Given the description of an element on the screen output the (x, y) to click on. 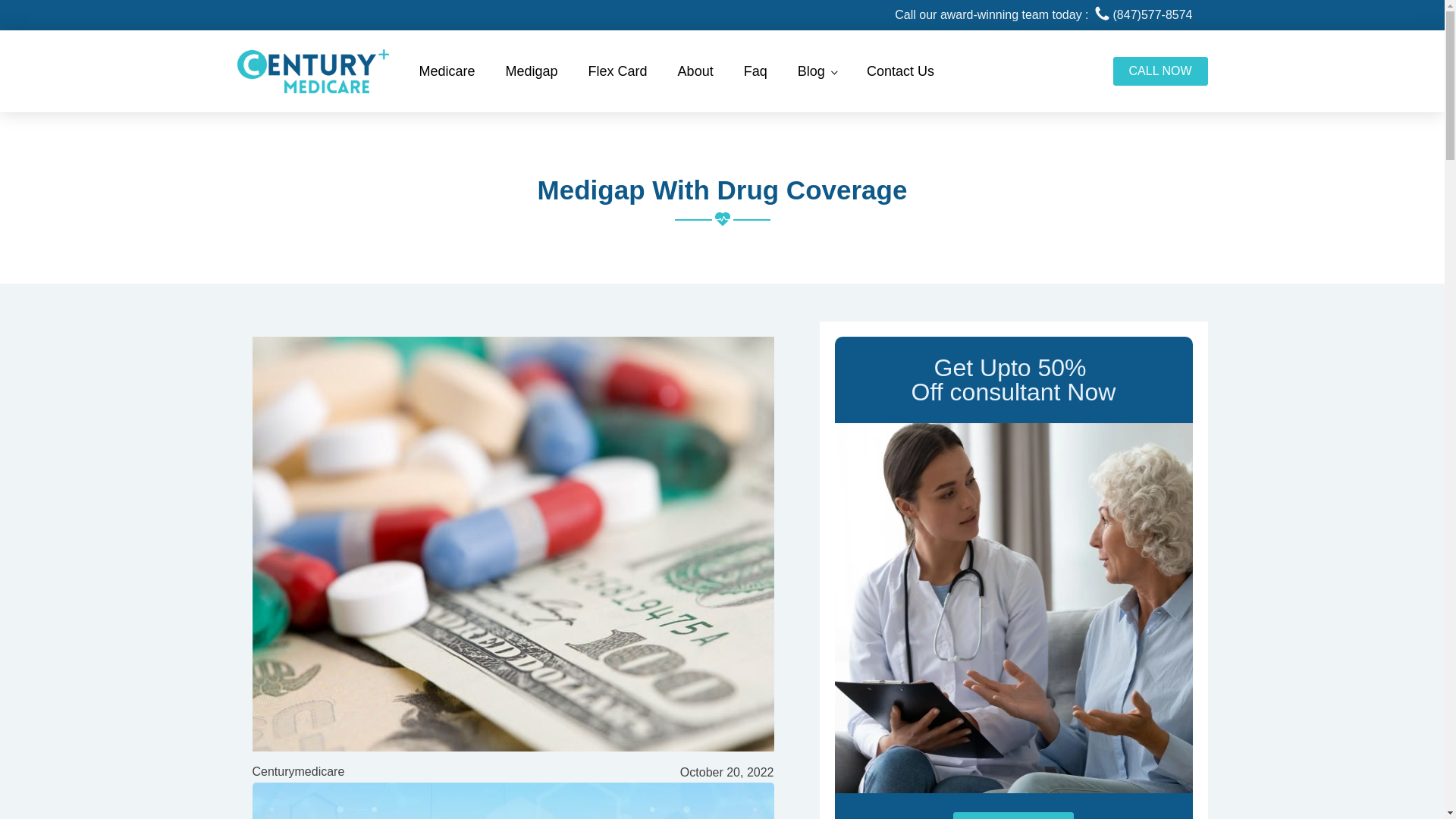
About (695, 71)
Flex Card (617, 71)
Century Medicare (311, 71)
CALL NOW (1160, 70)
Medicare (446, 71)
Medigap (531, 71)
Contact Us (900, 71)
Faq (756, 71)
Blog (817, 71)
Check Avaliability (1013, 815)
